Given the description of an element on the screen output the (x, y) to click on. 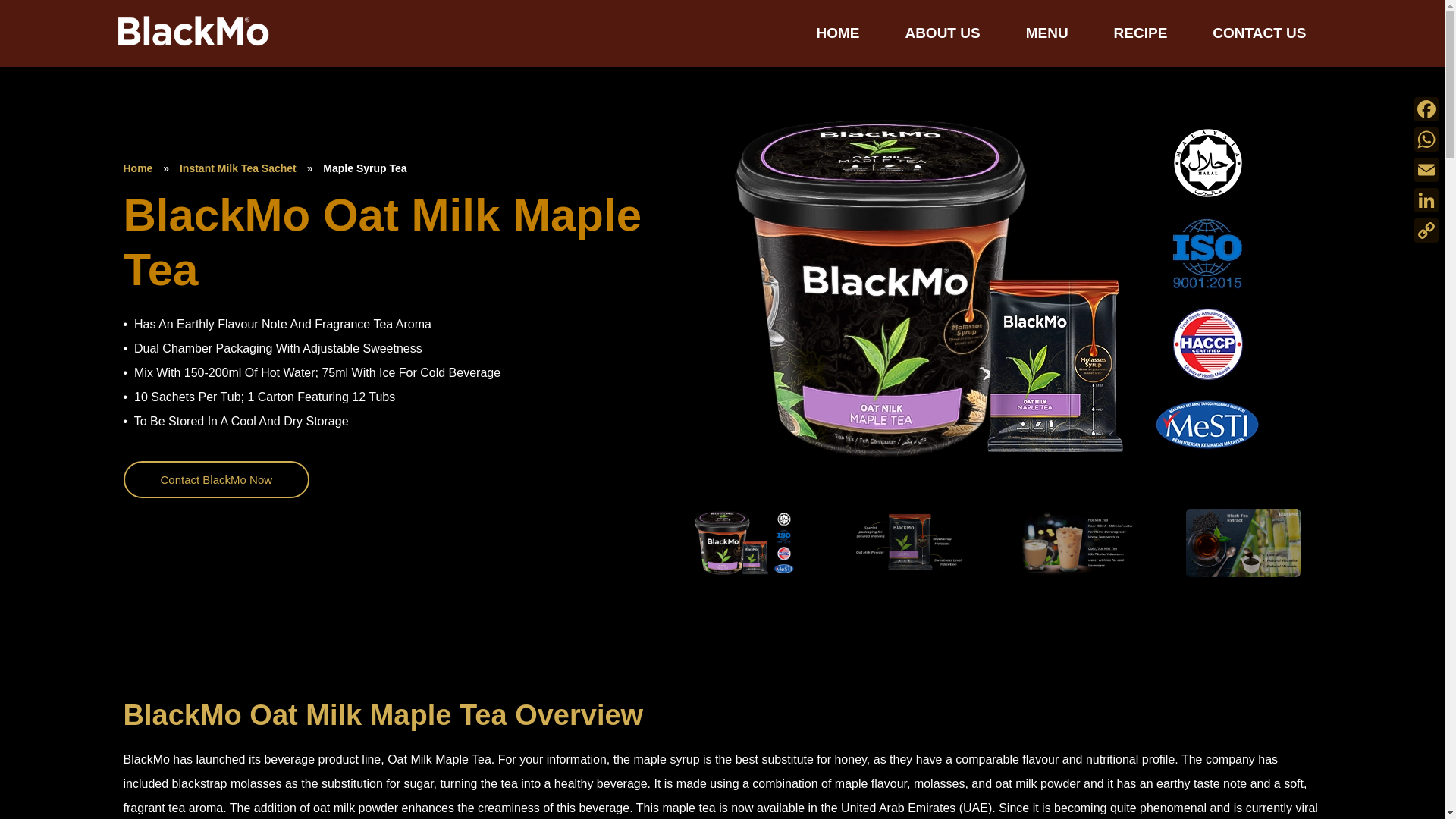
LinkedIn (1425, 200)
WhatsApp (1425, 139)
BlackMo (152, 55)
Email (1425, 169)
Email (1425, 169)
Home (137, 168)
Contact BlackMo Now (215, 479)
HOME (837, 33)
LinkedIn (1425, 200)
WhatsApp (1425, 139)
CONTACT US (1258, 33)
Facebook (1425, 109)
Facebook (1425, 109)
MENU (1046, 33)
BlackMo (152, 55)
